Given the description of an element on the screen output the (x, y) to click on. 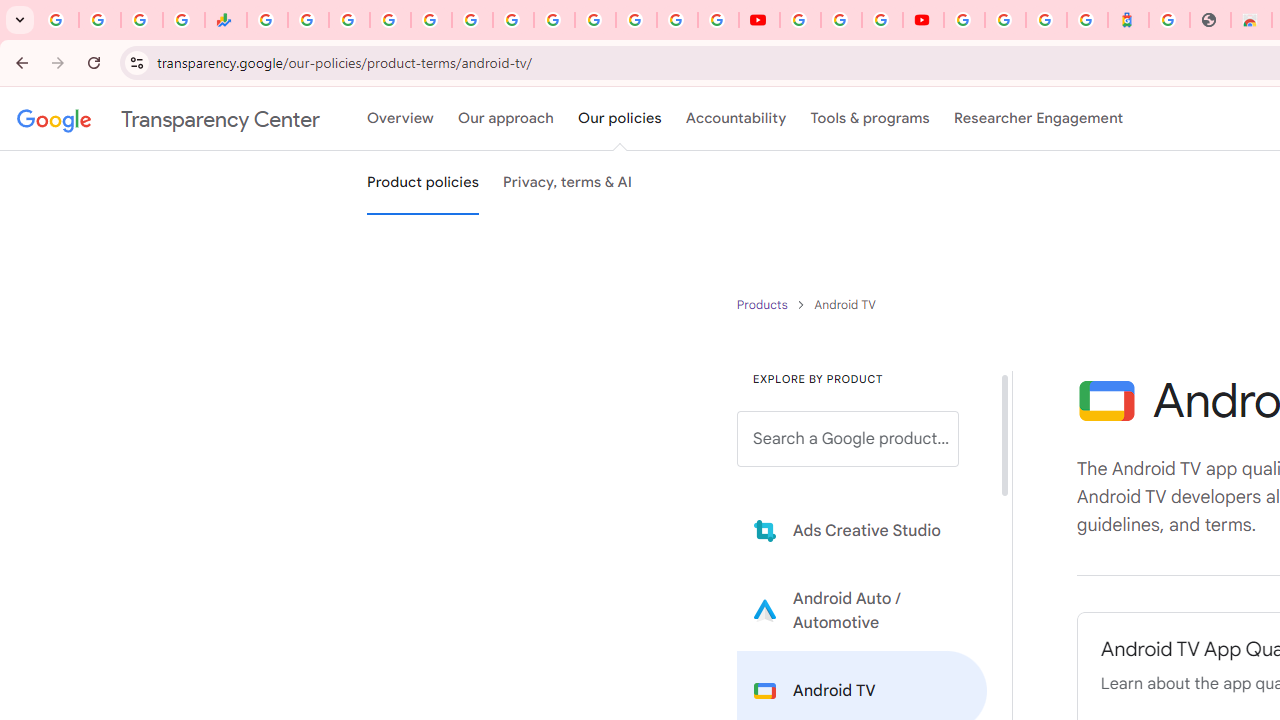
Tools & programs (869, 119)
Sign in - Google Accounts (676, 20)
Google Account Help (840, 20)
Our policies (619, 119)
YouTube (553, 20)
YouTube (758, 20)
Learn more about Ads Creative Studio (862, 530)
Learn more about Ads Creative Studio (862, 530)
Learn more about Android Auto (862, 610)
